Given the description of an element on the screen output the (x, y) to click on. 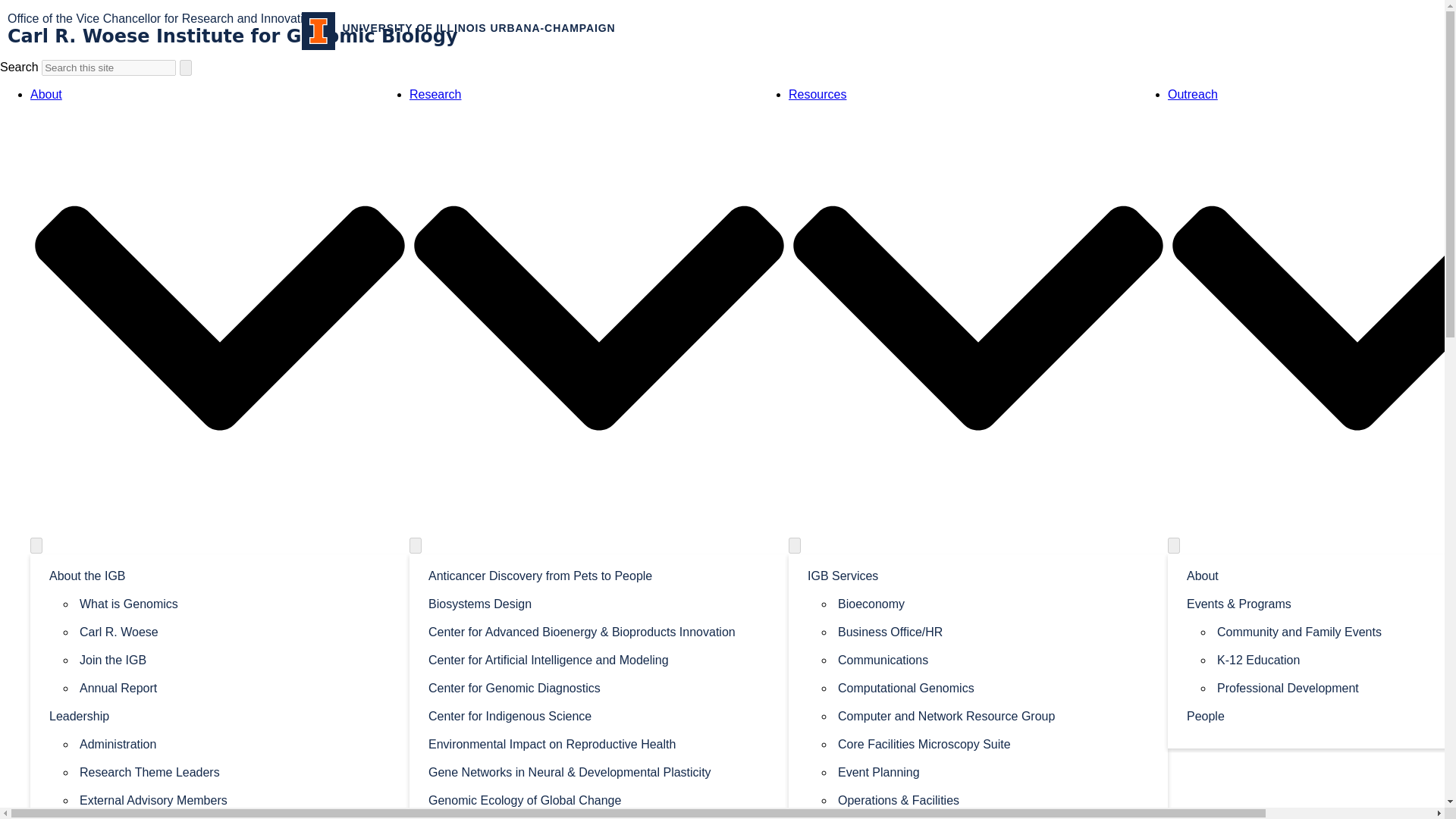
Genomic Ecology of Global Change (599, 799)
UNIVERSITY OF ILLINOIS URBANA-CHAMPAIGN (458, 30)
Carl R. Woese (234, 631)
Leadership (219, 715)
Join the IGB (234, 659)
Join the IGB (234, 659)
About the IGB (219, 574)
External Advisory Members (234, 799)
What is Genomics (234, 602)
About (46, 93)
Anticancer Discovery from Pets to People (599, 574)
Center for Artificial Intelligence and Modeling (599, 659)
Biosystems Design (599, 602)
About the IGB (219, 574)
Center for Genomic Diagnostics (599, 687)
